Given the description of an element on the screen output the (x, y) to click on. 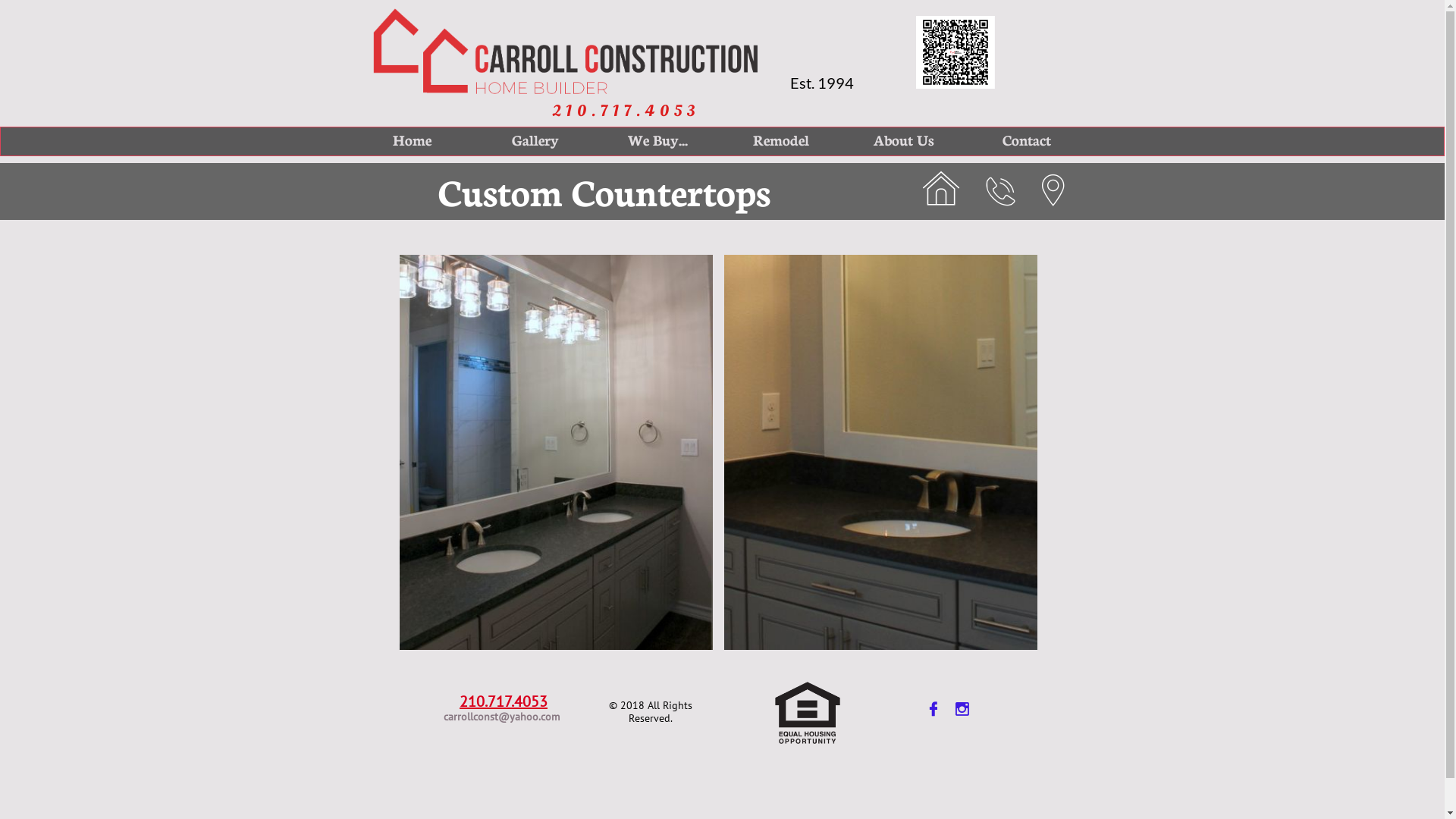
Home Element type: text (411, 139)
About Us Element type: text (903, 139)
210.717.4053 Element type: text (503, 701)
210.717.4053 Element type: text (626, 111)
carrollconst@yahoo.com Element type: text (501, 716)
Contact Element type: text (1025, 139)
We Buy... Element type: text (657, 139)
Gallery Element type: text (534, 139)
Remodel Element type: text (780, 139)
